Given the description of an element on the screen output the (x, y) to click on. 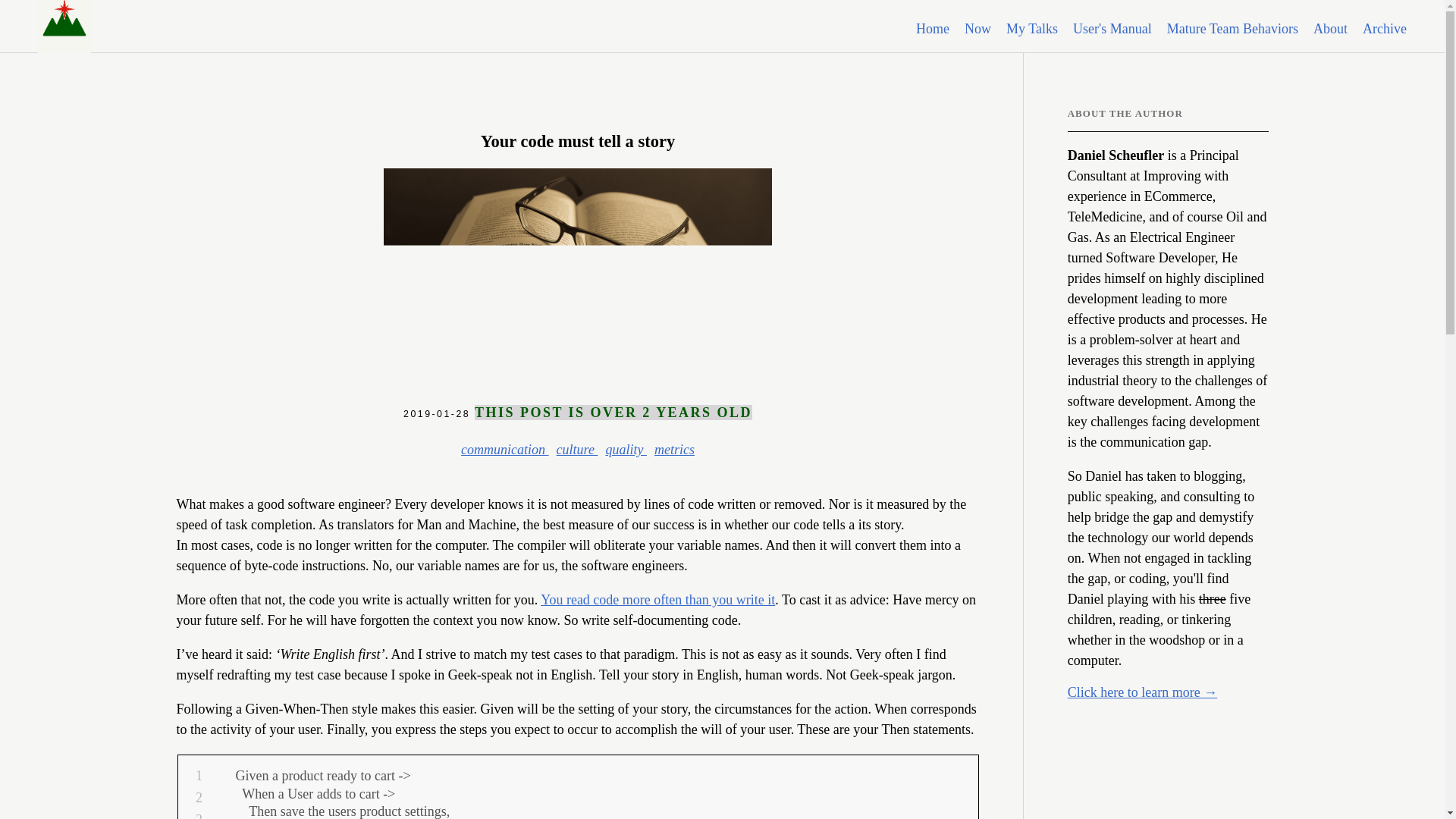
mail (1075, 707)
culture (577, 449)
podcast (1167, 707)
Home (932, 28)
rss (1149, 707)
quality (625, 449)
github (1093, 707)
Mature Team Behaviors (1232, 28)
Archive (1384, 28)
My Talks (1032, 28)
User's Manual (1112, 28)
linkedin (1112, 707)
Now (977, 28)
About (1330, 28)
leanpub (1130, 707)
